Given the description of an element on the screen output the (x, y) to click on. 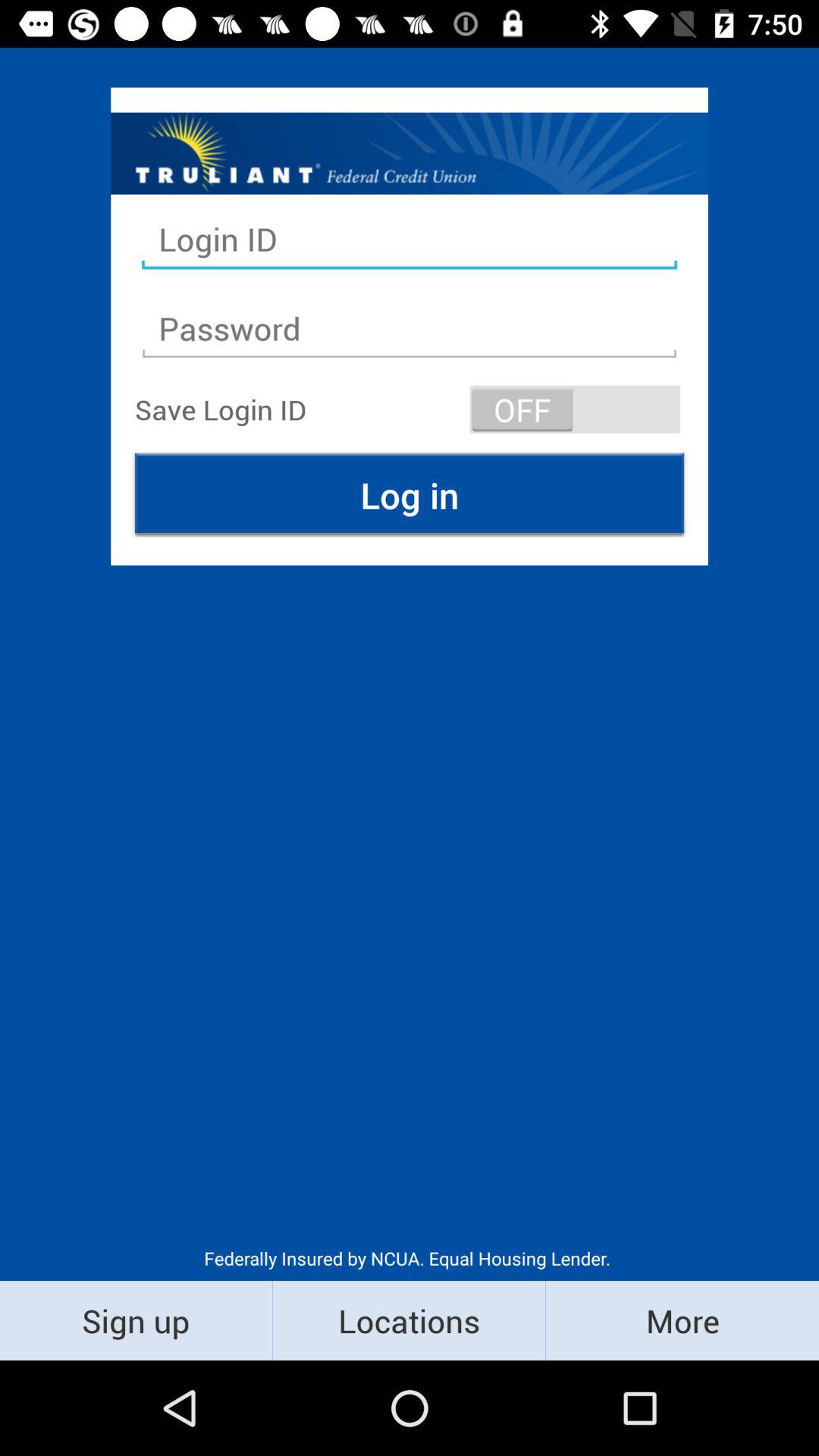
turn off item at the center (409, 494)
